Given the description of an element on the screen output the (x, y) to click on. 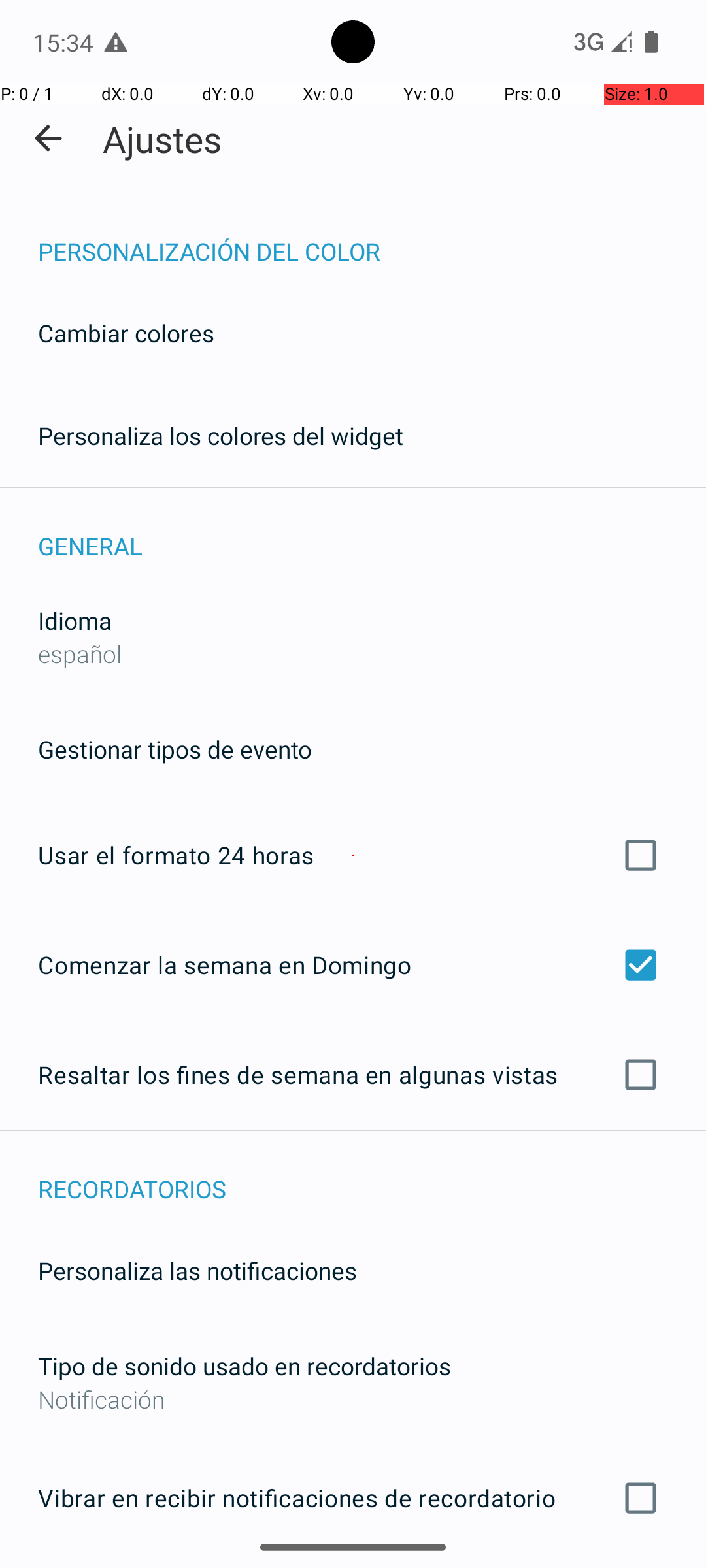
PERSONALIZACIÓN DEL COLOR Element type: android.widget.TextView (371, 237)
RECORDATORIOS Element type: android.widget.TextView (371, 1174)
Cambiar colores Element type: android.widget.TextView (125, 332)
Personaliza los colores del widget Element type: android.widget.TextView (220, 435)
Idioma Element type: android.widget.TextView (74, 620)
español Element type: android.widget.TextView (79, 653)
Gestionar tipos de evento Element type: android.widget.TextView (174, 748)
Usar el formato 24 horas Element type: android.widget.CheckBox (352, 855)
Comenzar la semana en Domingo Element type: android.widget.CheckBox (352, 964)
Resaltar los fines de semana en algunas vistas Element type: android.widget.CheckBox (352, 1074)
Personaliza las notificaciones Element type: android.widget.TextView (196, 1270)
Tipo de sonido usado en recordatorios Element type: android.widget.TextView (244, 1365)
Notificación Element type: android.widget.TextView (352, 1398)
Vibrar en recibir notificaciones de recordatorio Element type: android.widget.CheckBox (352, 1497)
Repetir recordatorios hasta ser descartados Element type: android.widget.CheckBox (352, 1567)
